Given the description of an element on the screen output the (x, y) to click on. 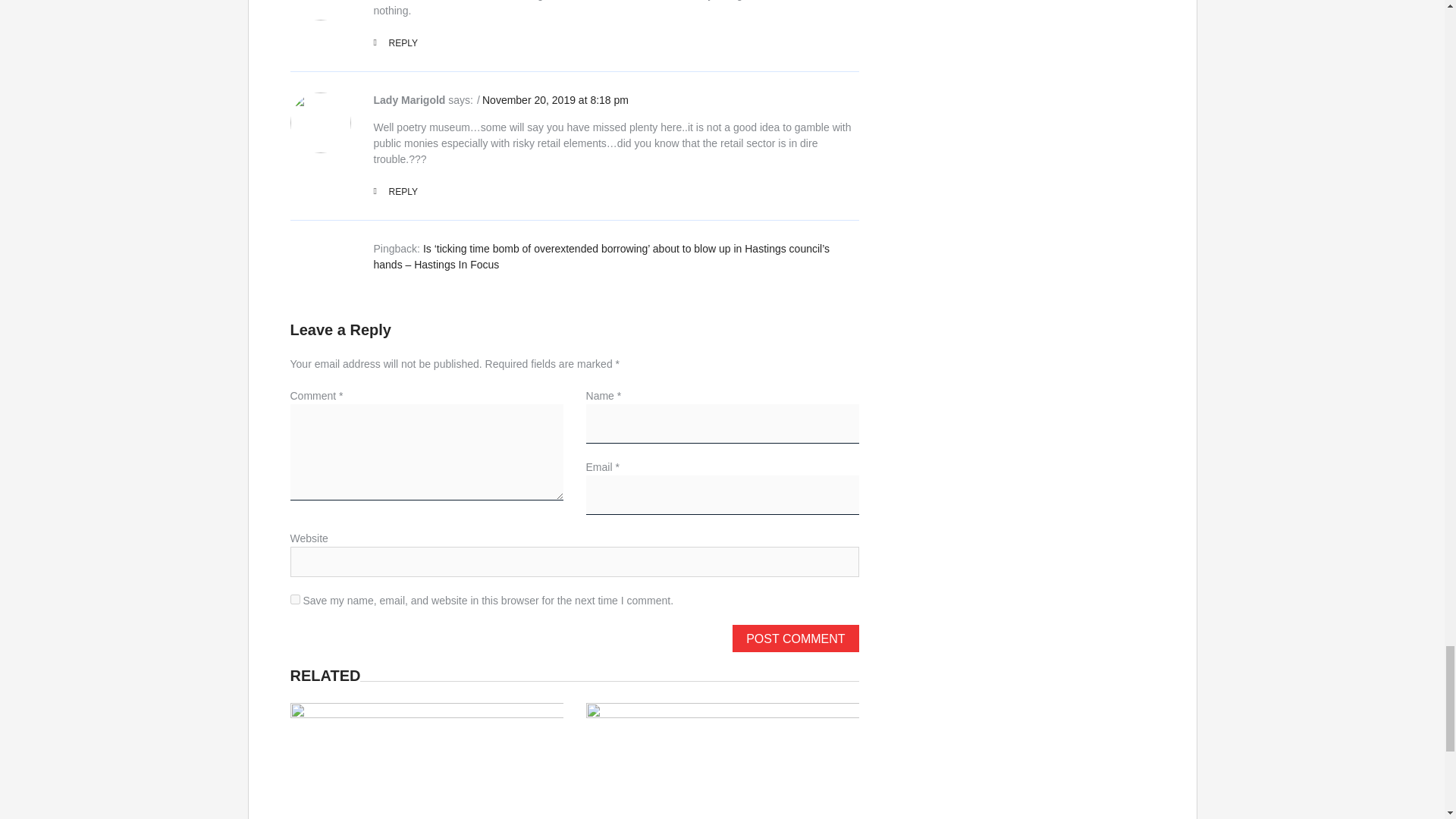
Post Comment (795, 637)
REPLY (394, 42)
November 20, 2019 at 8:18 pm (554, 100)
yes (294, 599)
REPLY (394, 191)
